Given the description of an element on the screen output the (x, y) to click on. 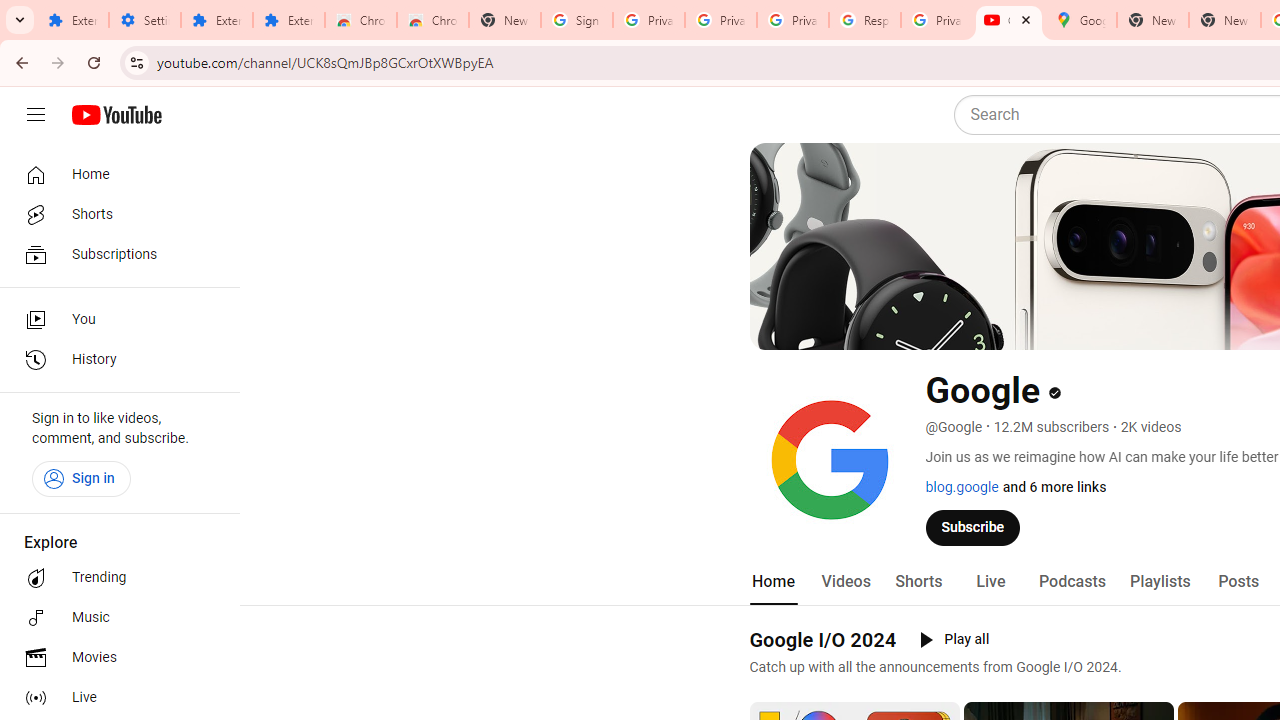
Videos (845, 581)
Shorts (113, 214)
blog.google (961, 487)
Posts (1238, 581)
Google - YouTube (1008, 20)
Subscribe (973, 527)
and 6 more links (1054, 487)
Extensions (72, 20)
Google Maps (1080, 20)
Chrome Web Store (360, 20)
Extensions (289, 20)
Live (990, 581)
